Given the description of an element on the screen output the (x, y) to click on. 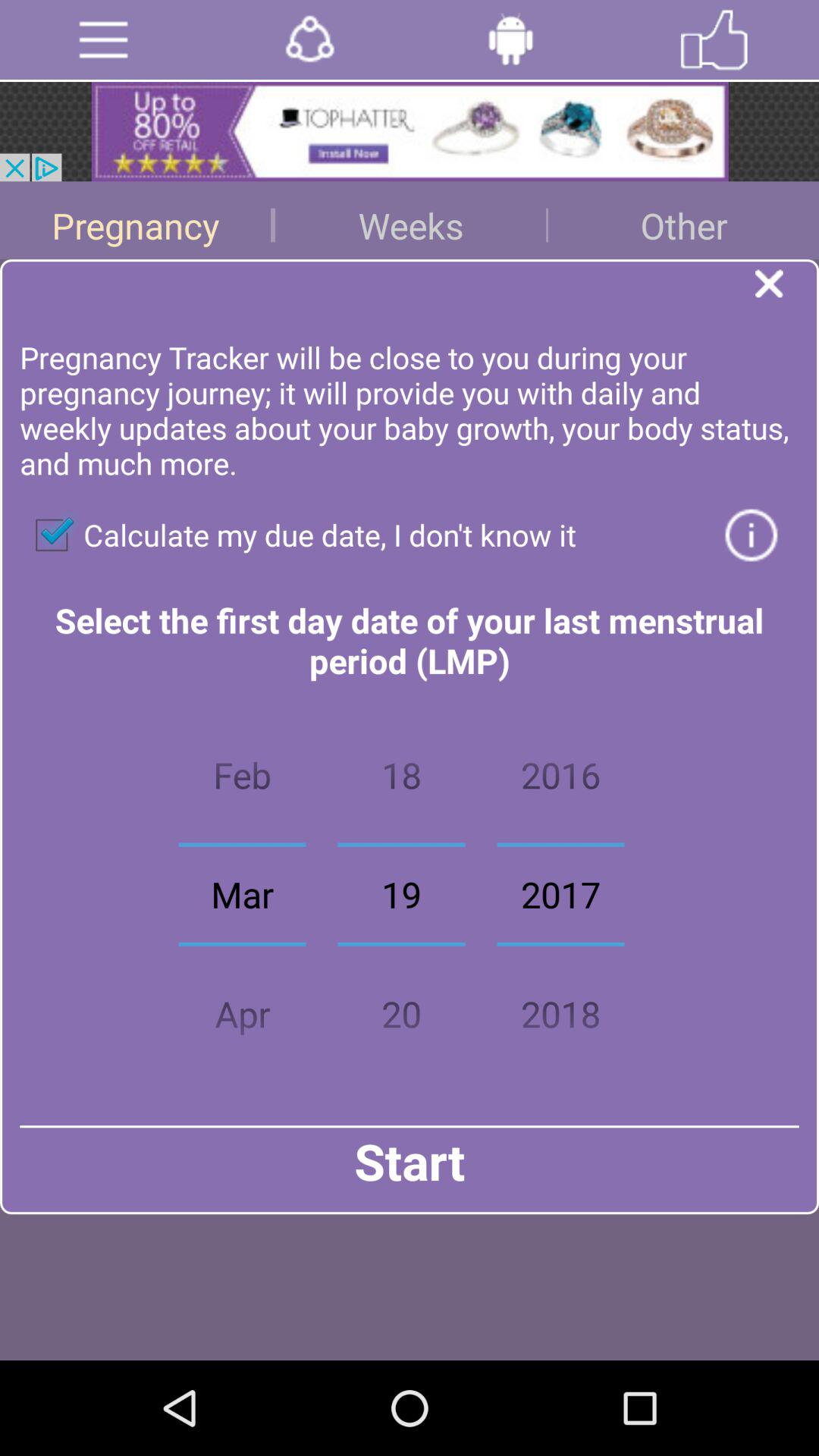
sharit (309, 39)
